Given the description of an element on the screen output the (x, y) to click on. 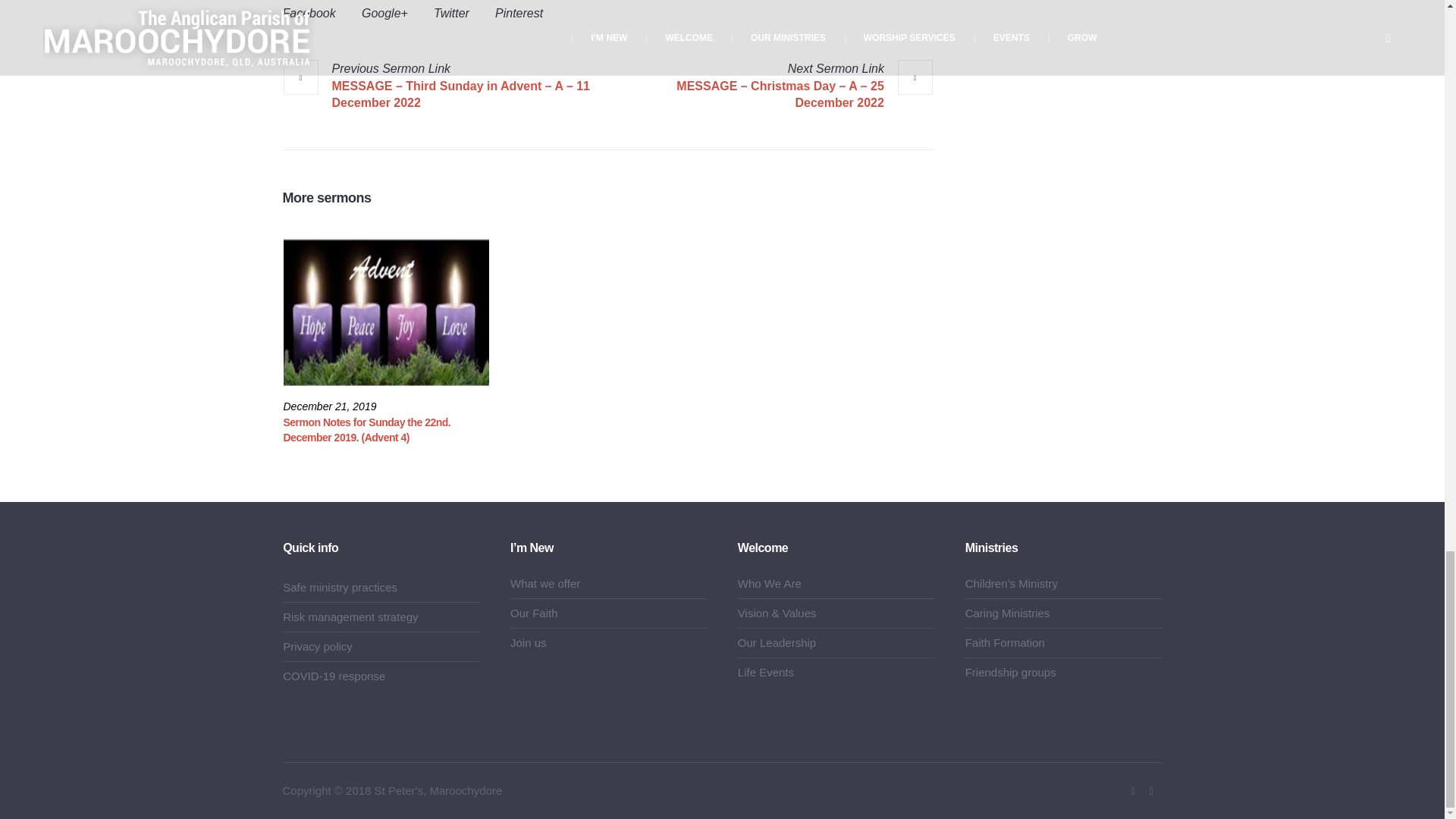
Facebook (1132, 791)
December 21, 2019 (330, 406)
Contact (1150, 791)
